Given the description of an element on the screen output the (x, y) to click on. 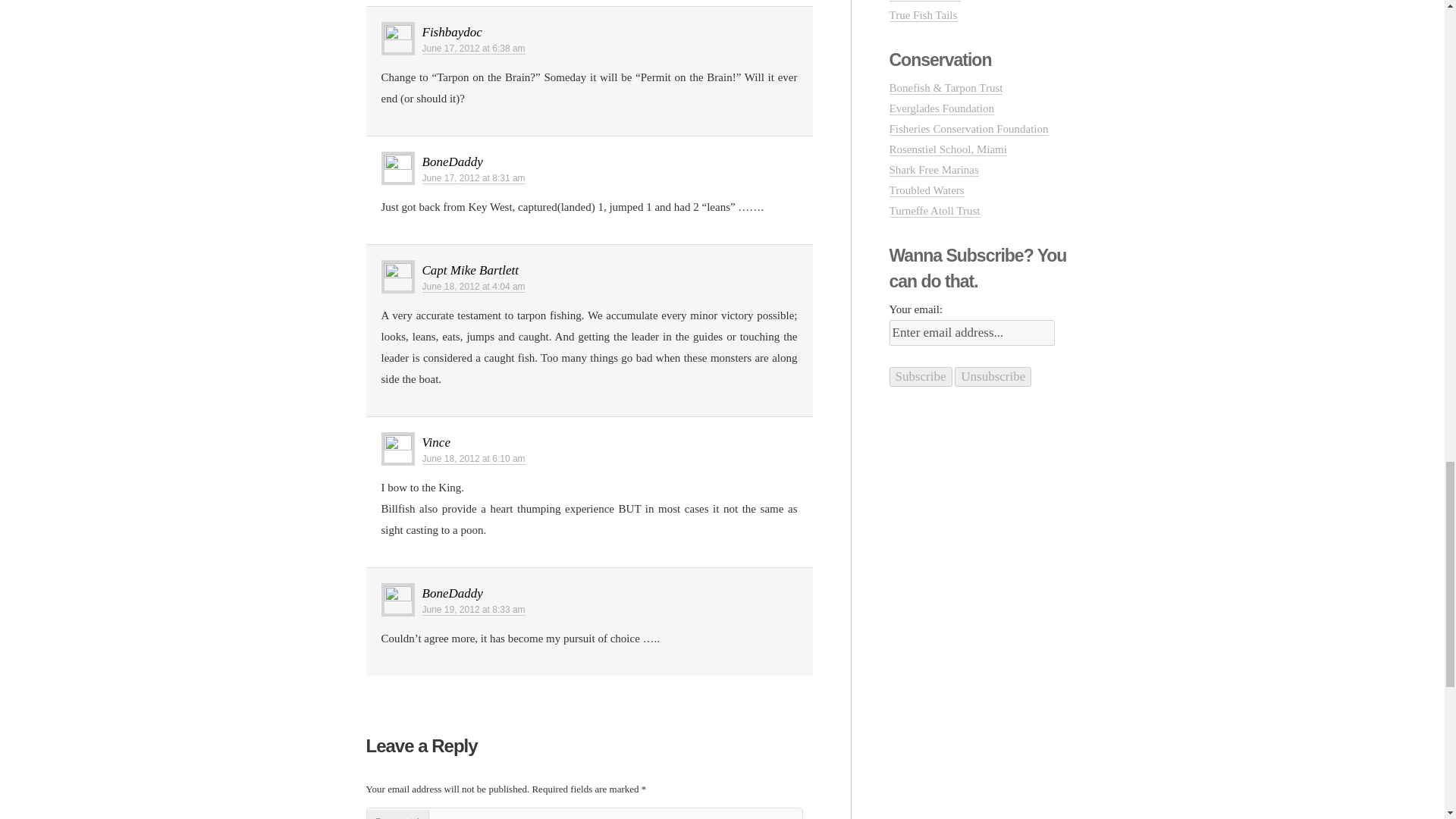
Subscribe (920, 376)
Unsubscribe (992, 376)
Enter email address... (971, 332)
